Given the description of an element on the screen output the (x, y) to click on. 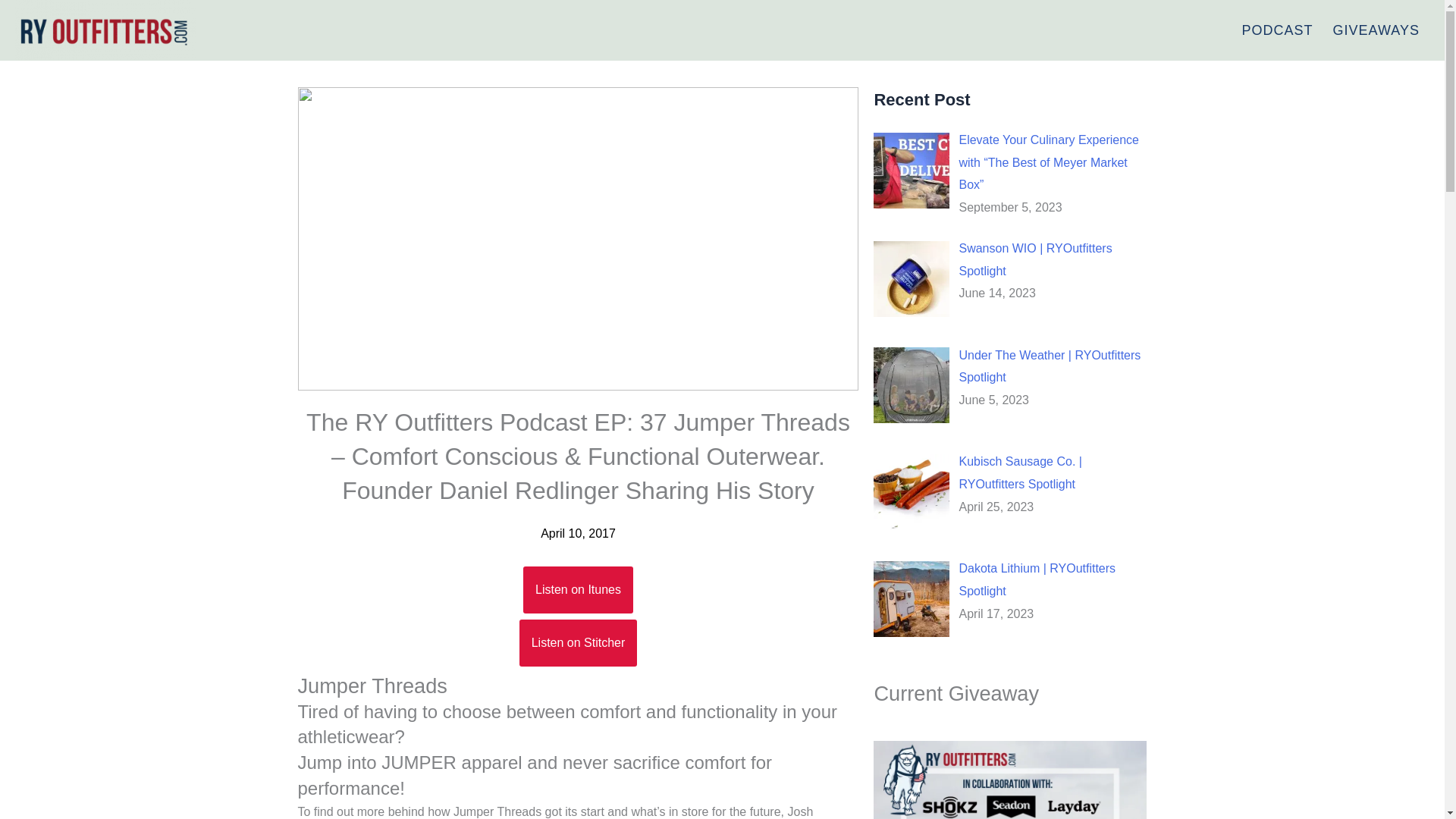
PODCAST (1277, 30)
Listen on Stitcher (578, 642)
GIVEAWAYS (1376, 30)
Listen on Itunes (577, 589)
April 10, 2017 (577, 533)
